Given the description of an element on the screen output the (x, y) to click on. 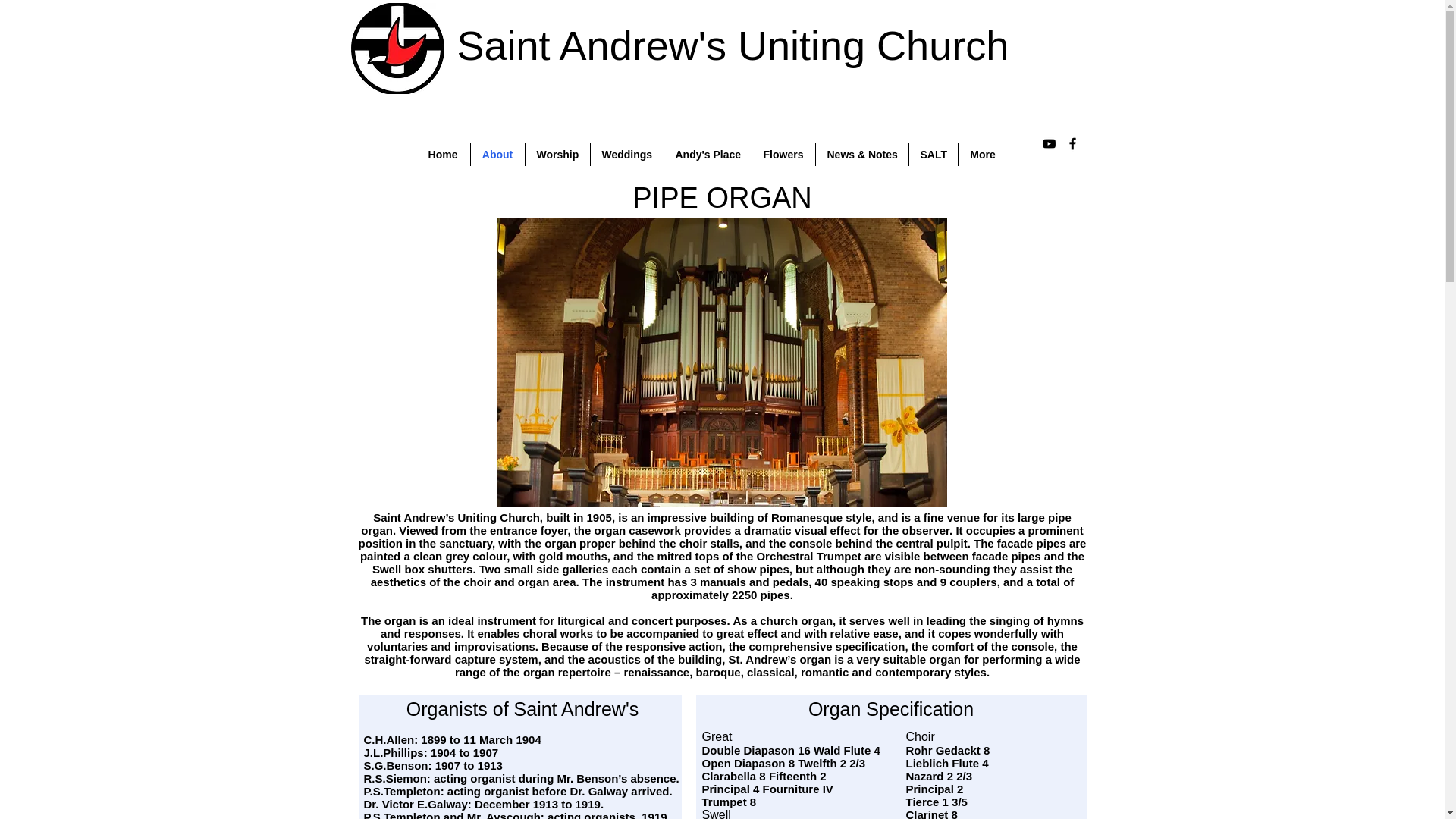
Flowers (783, 154)
Weddings (625, 154)
Home (441, 154)
Andy's Place (707, 154)
SALT (932, 154)
Worship (556, 154)
About (497, 154)
